Given the description of an element on the screen output the (x, y) to click on. 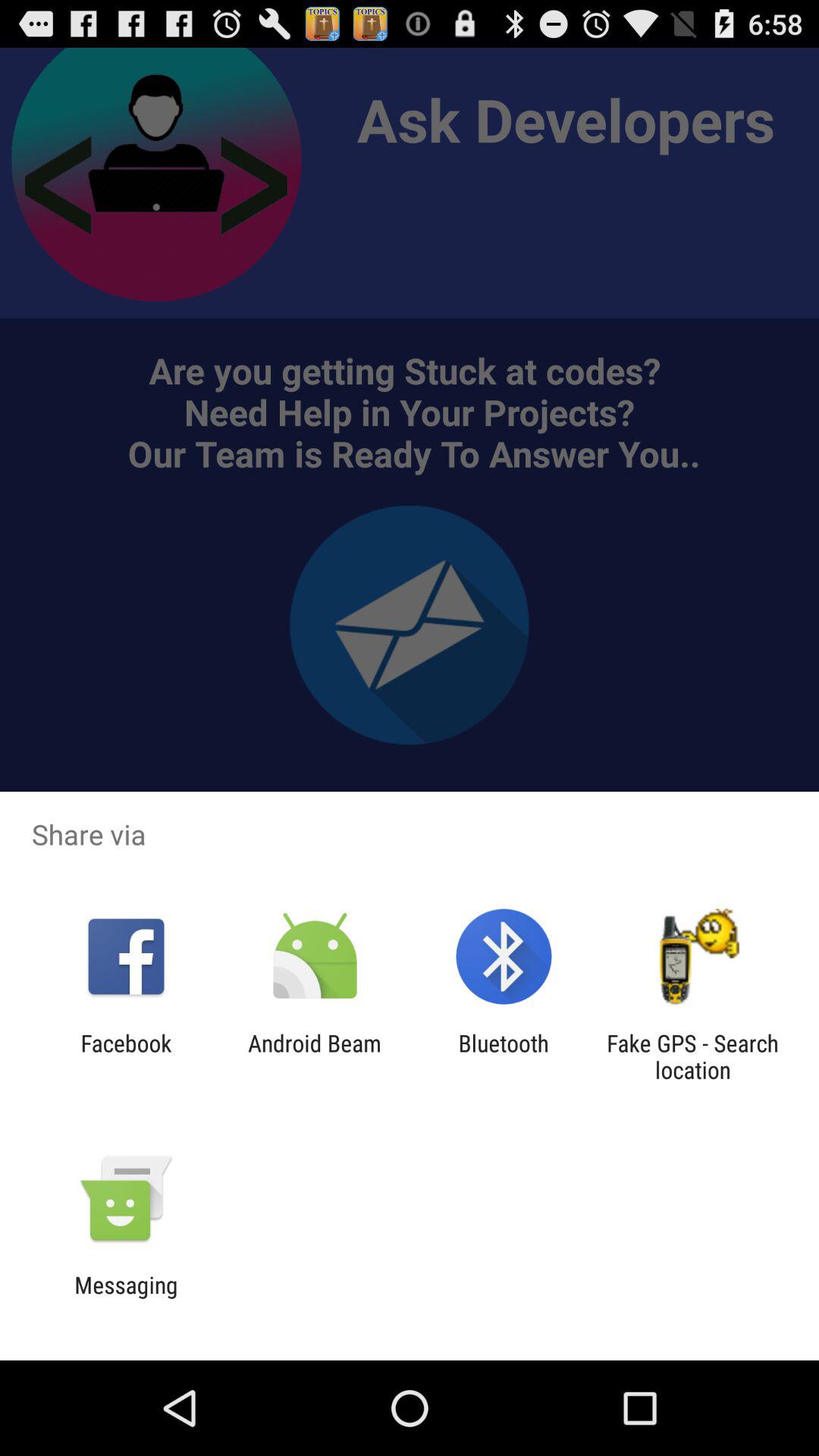
tap icon next to facebook icon (314, 1056)
